Given the description of an element on the screen output the (x, y) to click on. 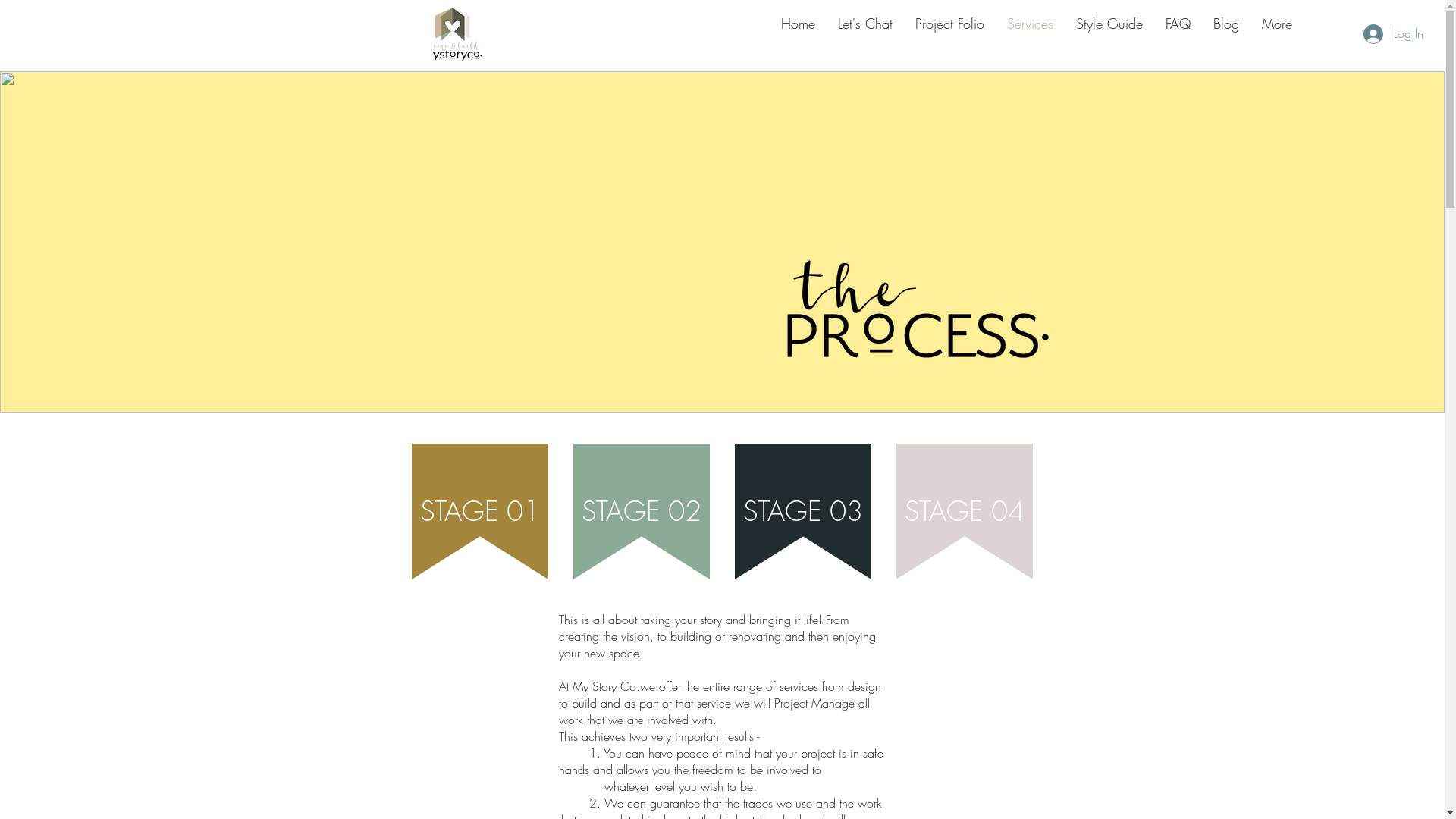
Project Folio Element type: text (949, 33)
Log In Element type: text (1393, 33)
Let's Chat Element type: text (864, 33)
FAQ Element type: text (1177, 33)
Blog Element type: text (1225, 33)
STAGE 01 Element type: text (479, 511)
STAGE 03 Element type: text (802, 511)
Home Element type: text (797, 33)
Services Element type: text (1029, 33)
STAGE 02 Element type: text (640, 511)
STAGE 04 Element type: text (963, 511)
Style Guide Element type: text (1109, 33)
